Given the description of an element on the screen output the (x, y) to click on. 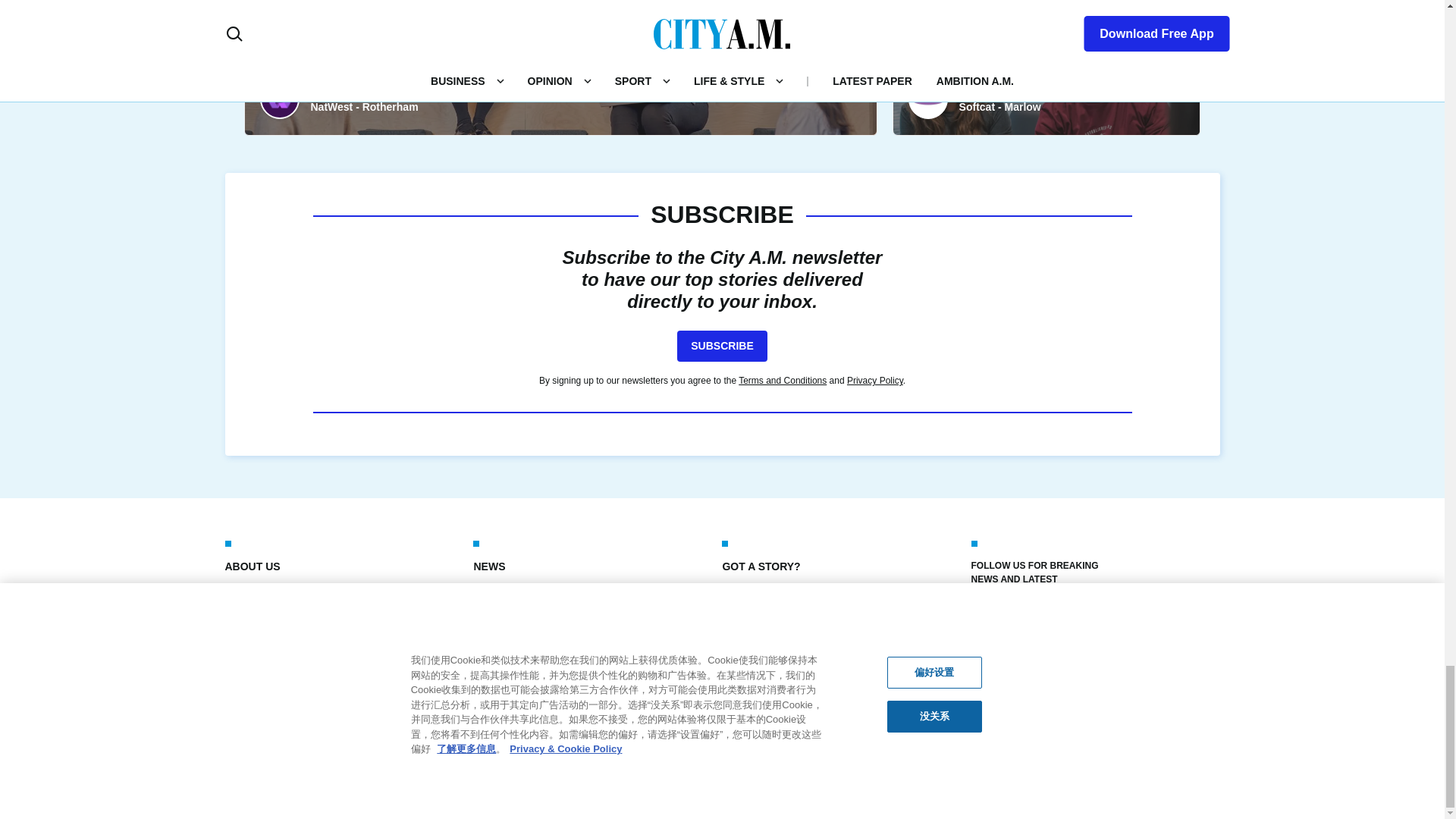
LINKEDIN (1082, 623)
X (1015, 623)
FACEBOOK (982, 623)
INSTAGRAM (1048, 623)
